Given the description of an element on the screen output the (x, y) to click on. 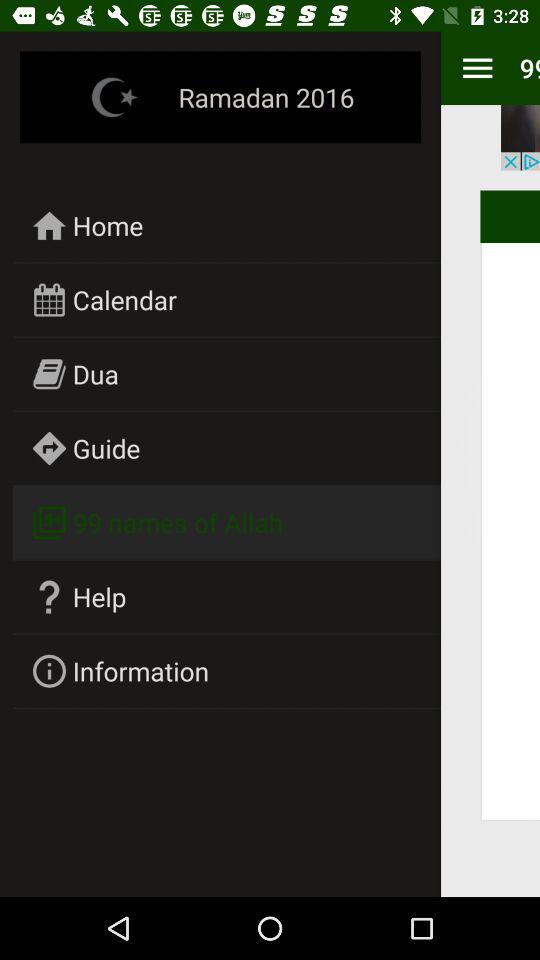
open the calendar item (124, 299)
